Given the description of an element on the screen output the (x, y) to click on. 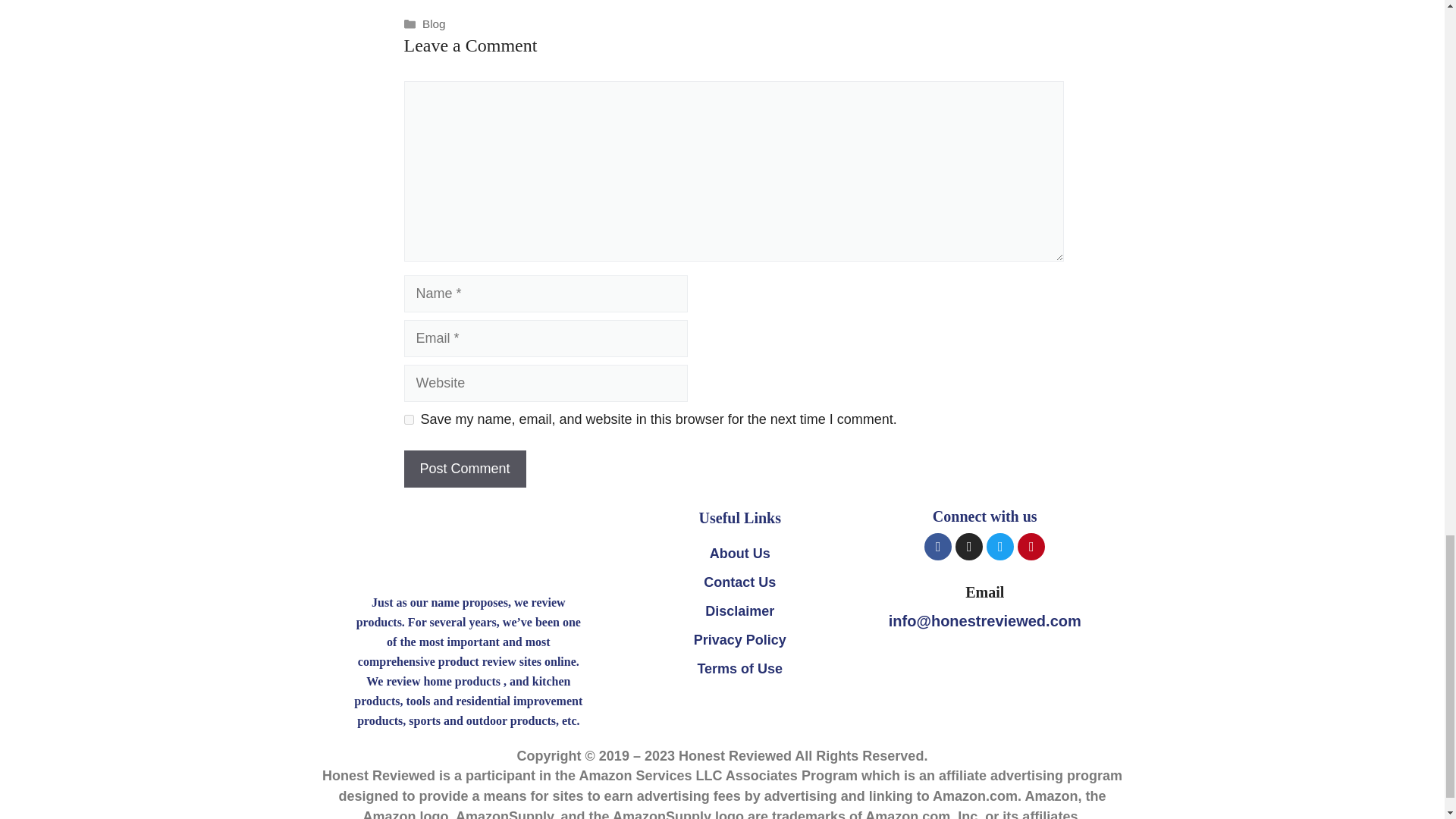
Contact Us (739, 582)
Privacy Policy (739, 639)
Disclaimer (739, 611)
Terms of Use (739, 669)
Blog (433, 23)
Post Comment (464, 468)
yes (408, 419)
Post Comment (464, 468)
About Us (739, 553)
